Given the description of an element on the screen output the (x, y) to click on. 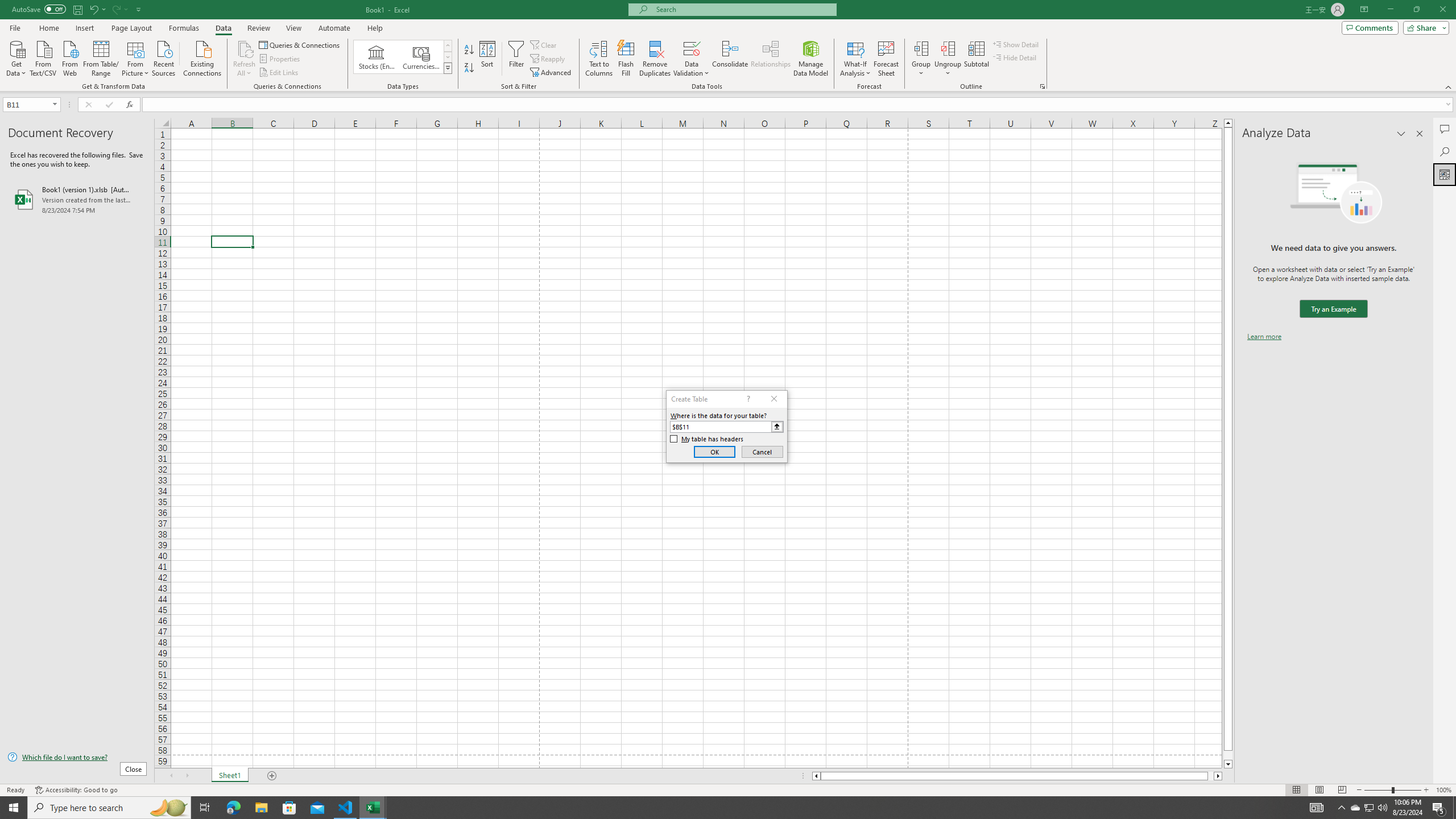
Subtotal (976, 58)
From Web (69, 57)
From Text/CSV (43, 57)
Relationships (770, 58)
